Given the description of an element on the screen output the (x, y) to click on. 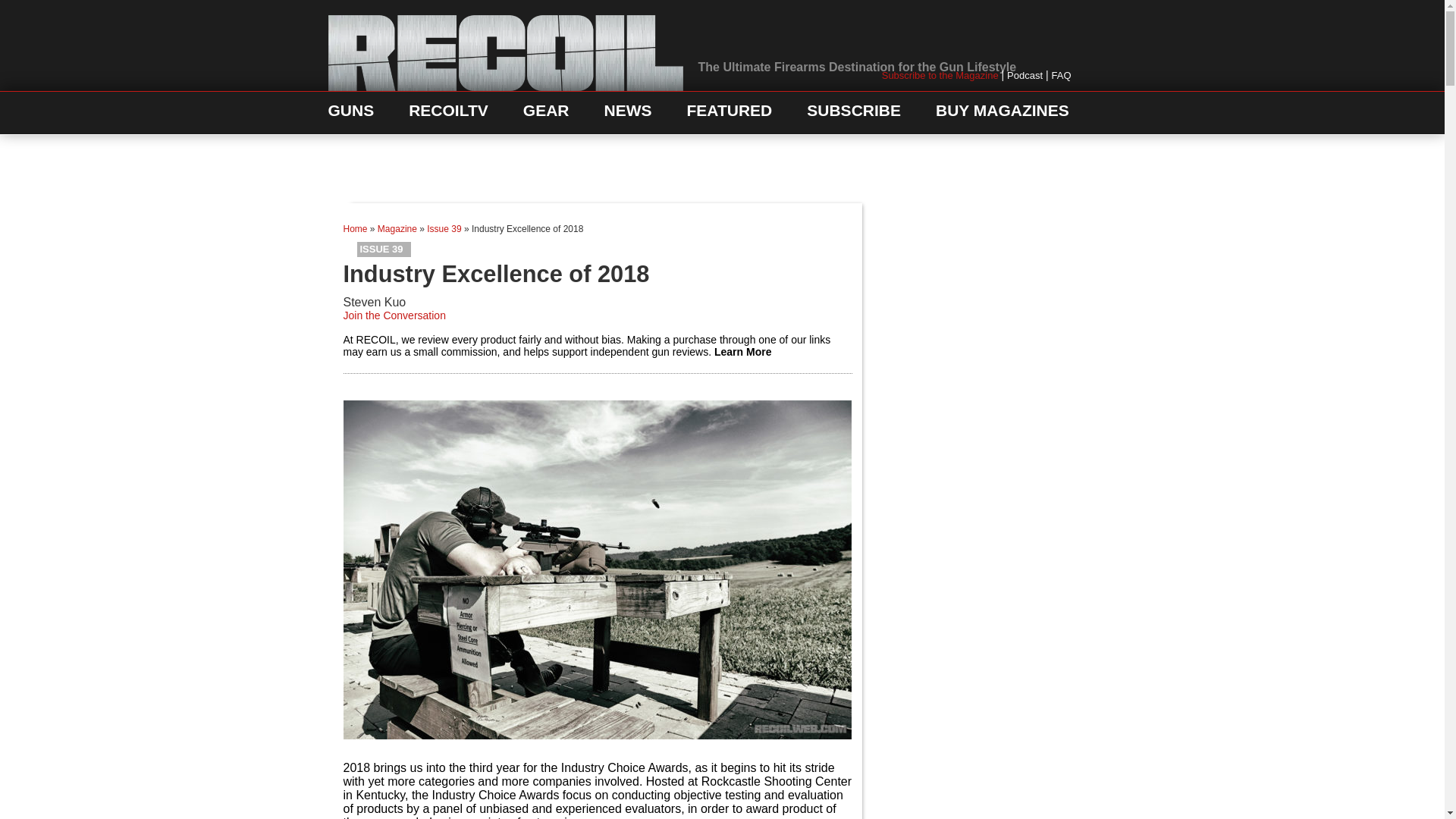
NEWS (627, 114)
Gear (545, 114)
Issue 39 (383, 249)
FEATURED (730, 114)
GEAR (545, 114)
FAQ (1060, 75)
Magazine (396, 228)
SUBSCRIBE (853, 114)
Guns (350, 114)
Podcast (1024, 75)
